Given the description of an element on the screen output the (x, y) to click on. 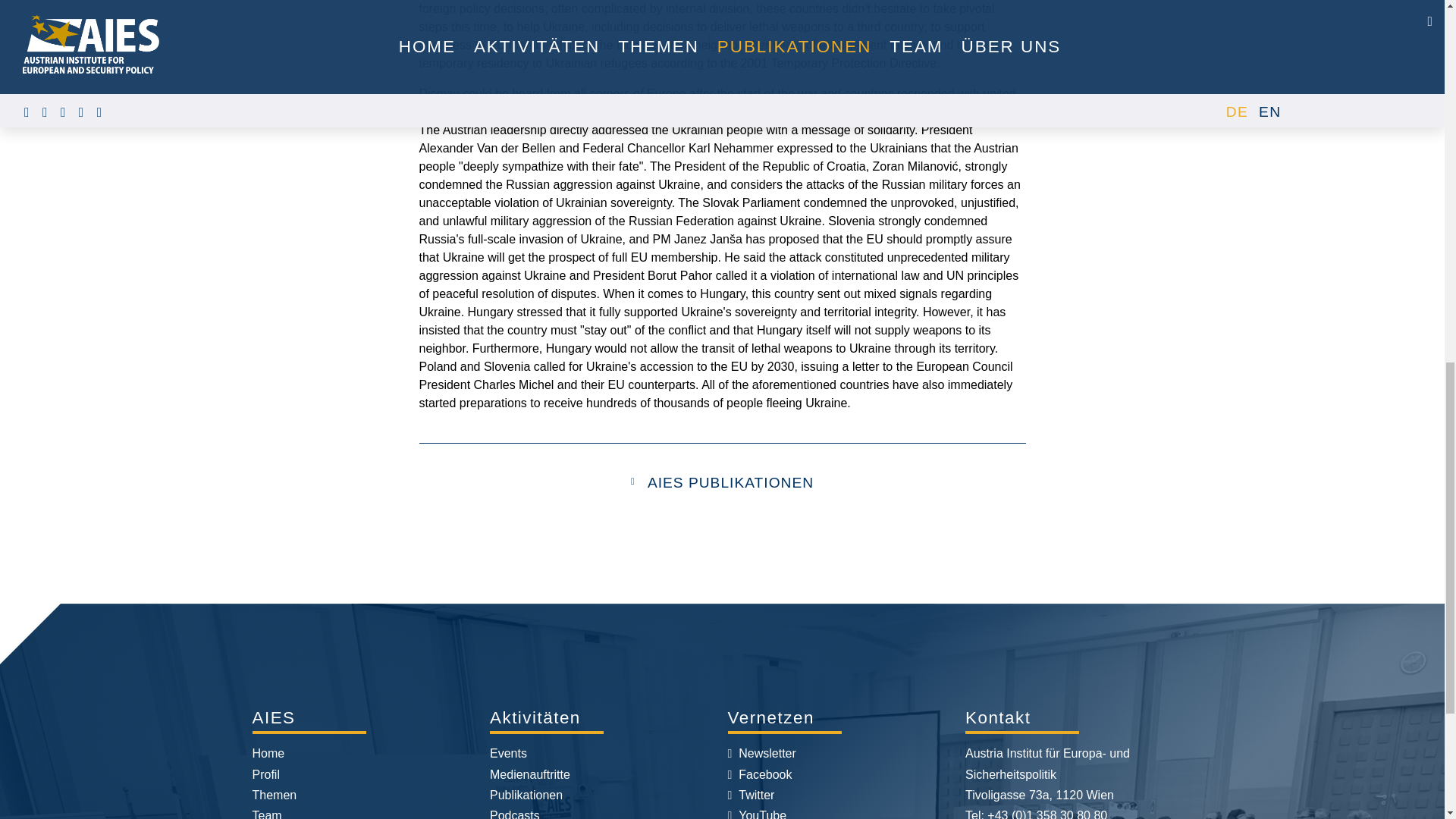
AIES PUBLIKATIONEN (730, 482)
Profil (265, 774)
Home (267, 753)
Themen (274, 794)
